Given the description of an element on the screen output the (x, y) to click on. 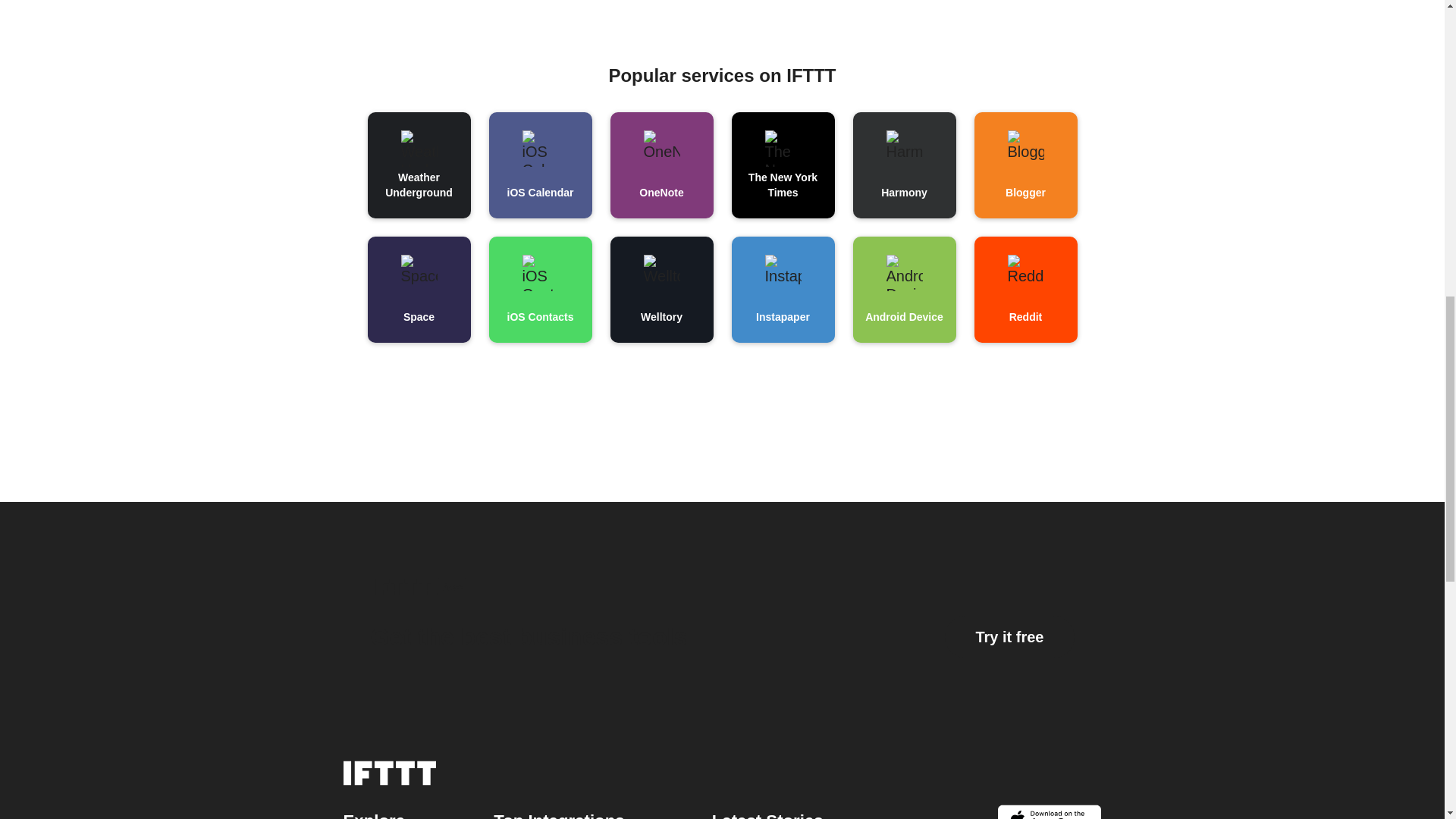
Welltory (661, 289)
Android Device (903, 289)
Weather Underground (418, 165)
Blogger (1025, 165)
The New York Times (782, 165)
OneNote (661, 165)
iOS Contacts (539, 289)
Space (418, 289)
Reddit (1025, 289)
Harmony (903, 165)
Instapaper (721, 618)
iOS Calendar (782, 289)
